Given the description of an element on the screen output the (x, y) to click on. 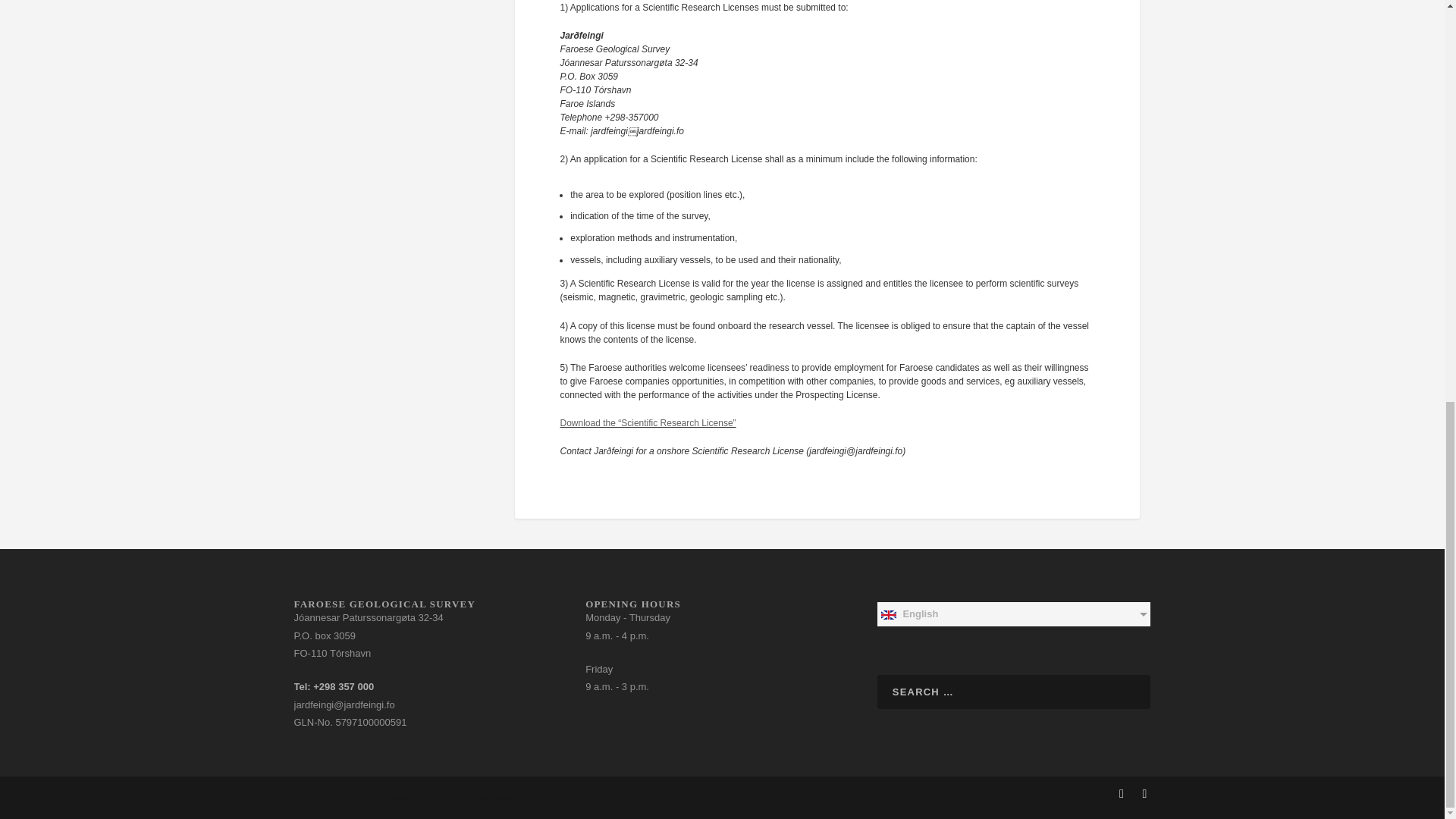
Premium WordPress Themes (379, 797)
